Given the description of an element on the screen output the (x, y) to click on. 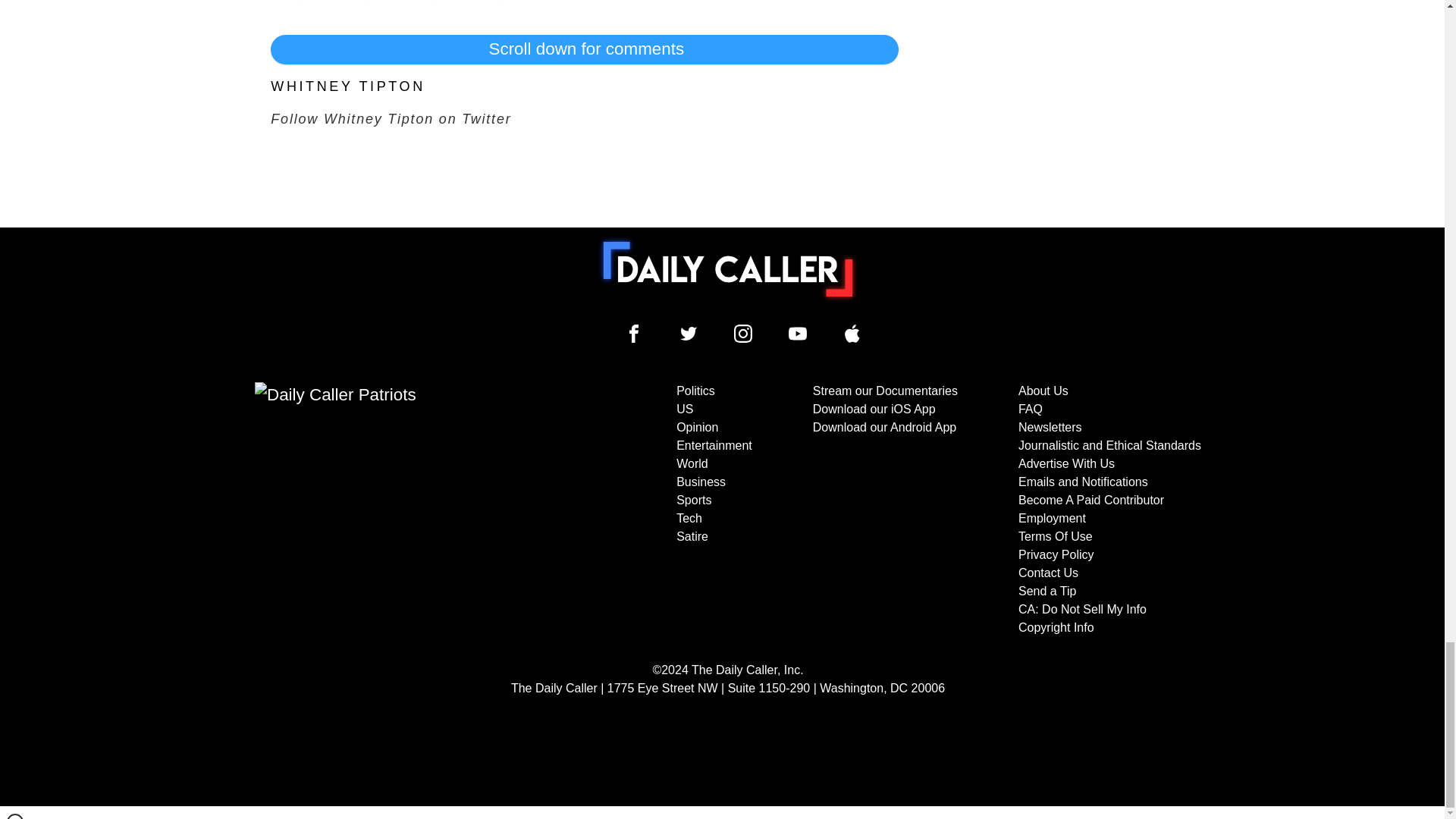
Subscribe to The Daily Caller (405, 509)
Scroll down for comments (584, 49)
Daily Caller Instagram (742, 333)
Daily Caller Twitter (688, 333)
To home page (727, 268)
Daily Caller Facebook (633, 333)
Daily Caller YouTube (852, 333)
Daily Caller YouTube (797, 333)
